Given the description of an element on the screen output the (x, y) to click on. 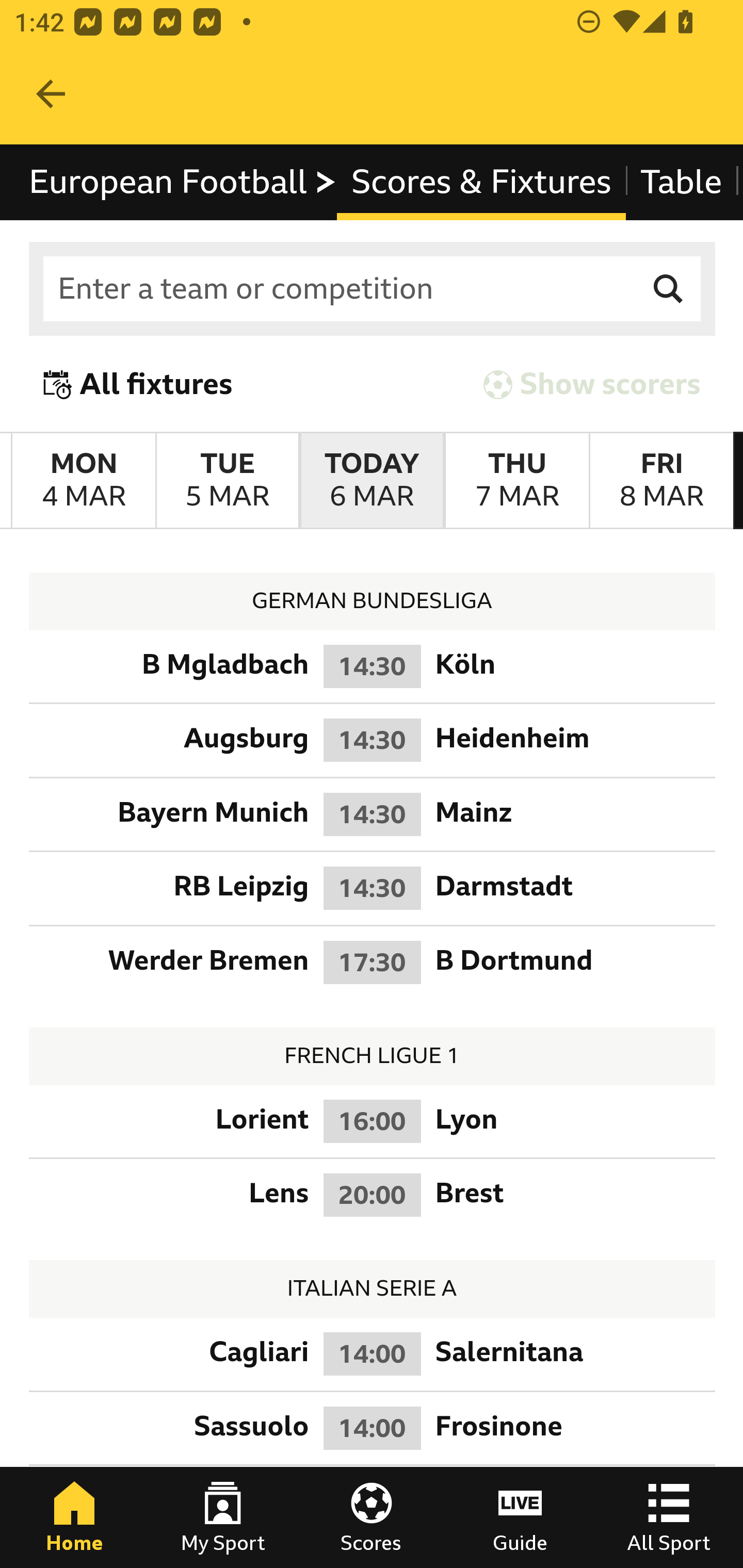
Navigate up (50, 93)
European Football  (182, 181)
Scores & Fixtures (480, 181)
Table (681, 181)
Search (669, 289)
All fixtures (137, 383)
Show scorers (591, 383)
MondayMarch 4th Monday March 4th (83, 480)
TuesdayMarch 5th Tuesday March 5th (227, 480)
TodayMarch 6th Today March 6th (371, 480)
ThursdayMarch 7th Thursday March 7th (516, 480)
FridayMarch 8th Friday March 8th (661, 480)
My Sport (222, 1517)
Scores (371, 1517)
Guide (519, 1517)
All Sport (668, 1517)
